Given the description of an element on the screen output the (x, y) to click on. 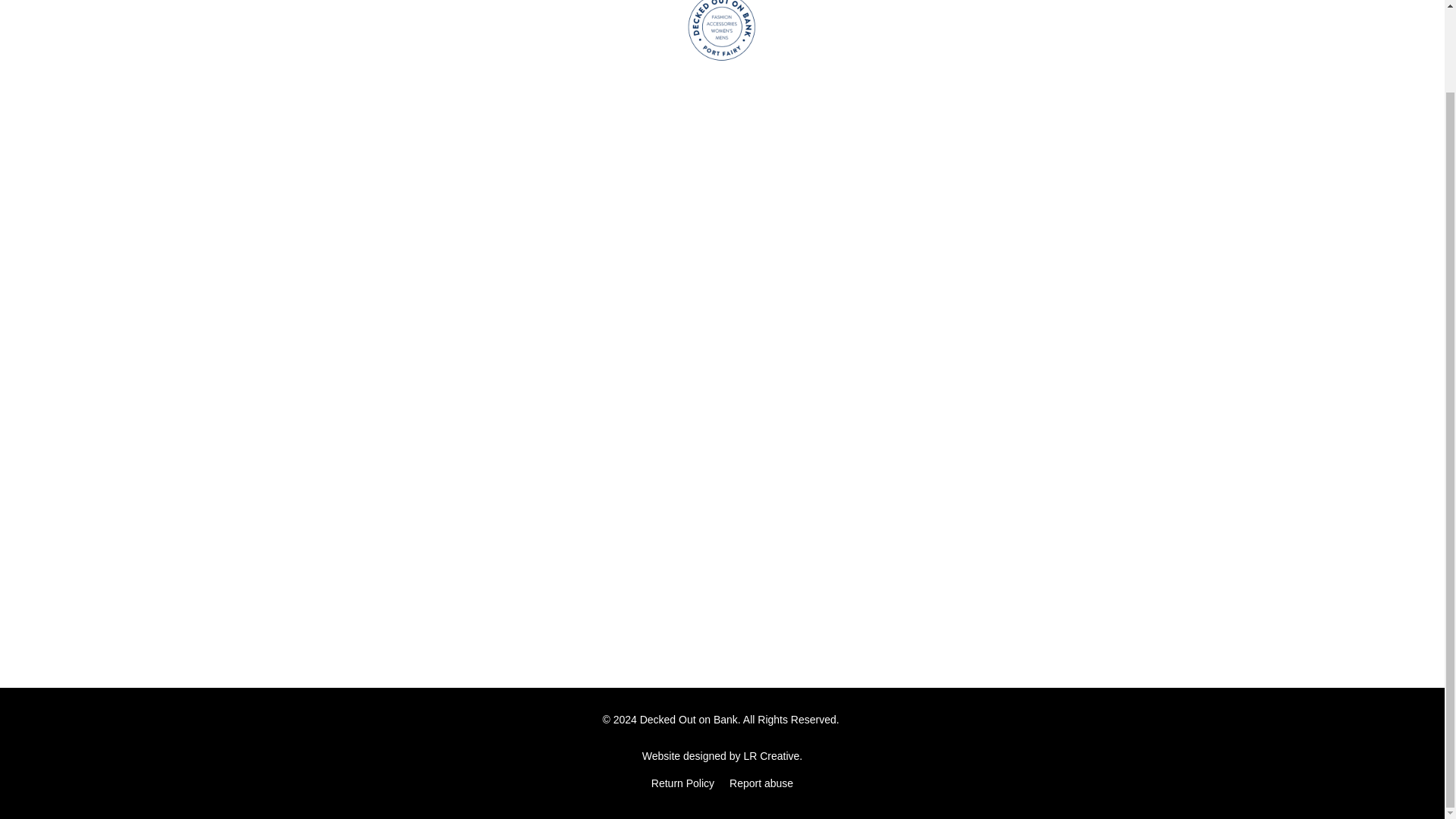
Report abuse (761, 782)
Return Policy (682, 782)
